Given the description of an element on the screen output the (x, y) to click on. 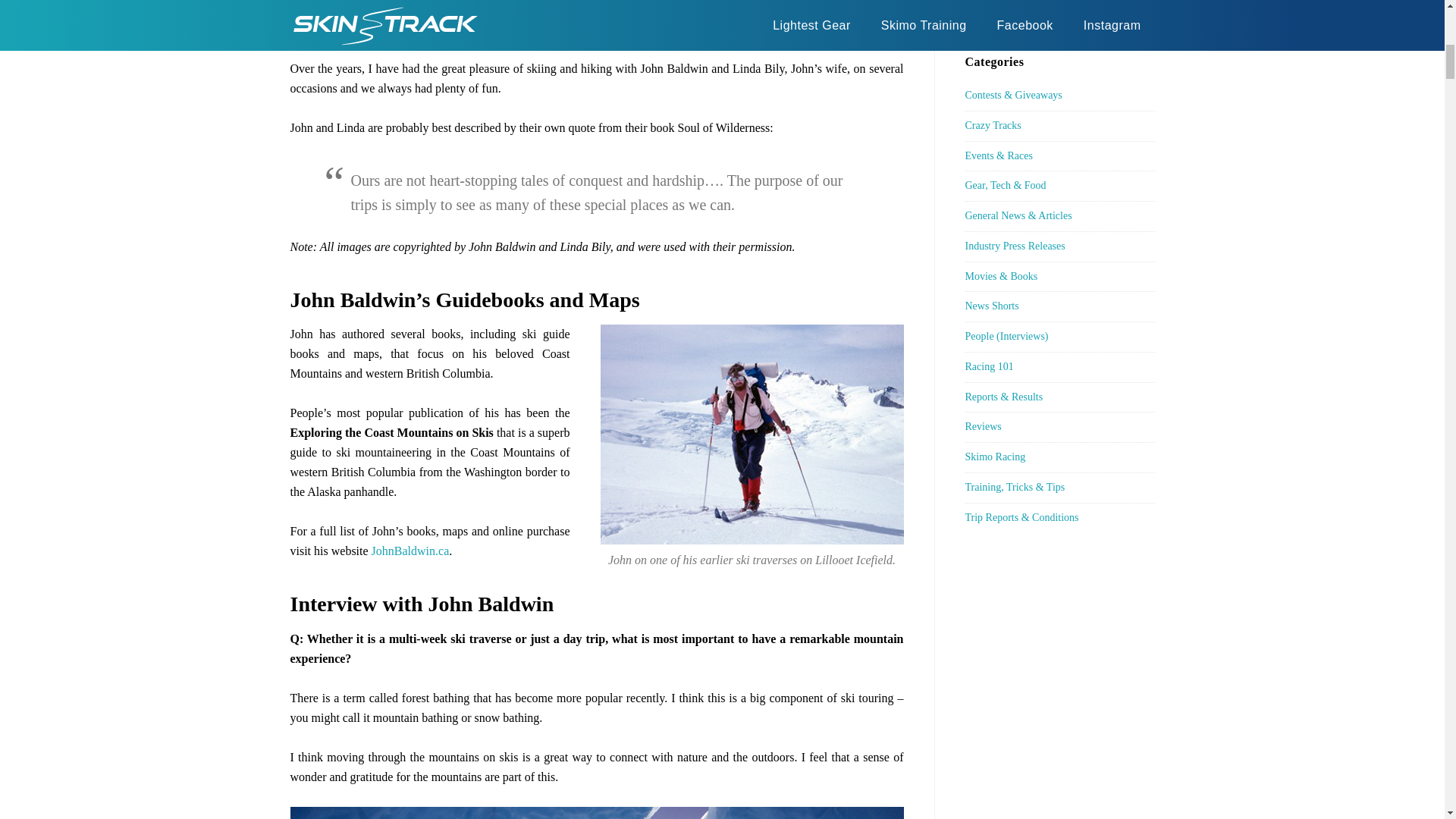
JohnBaldwin.ca (410, 550)
